Given the description of an element on the screen output the (x, y) to click on. 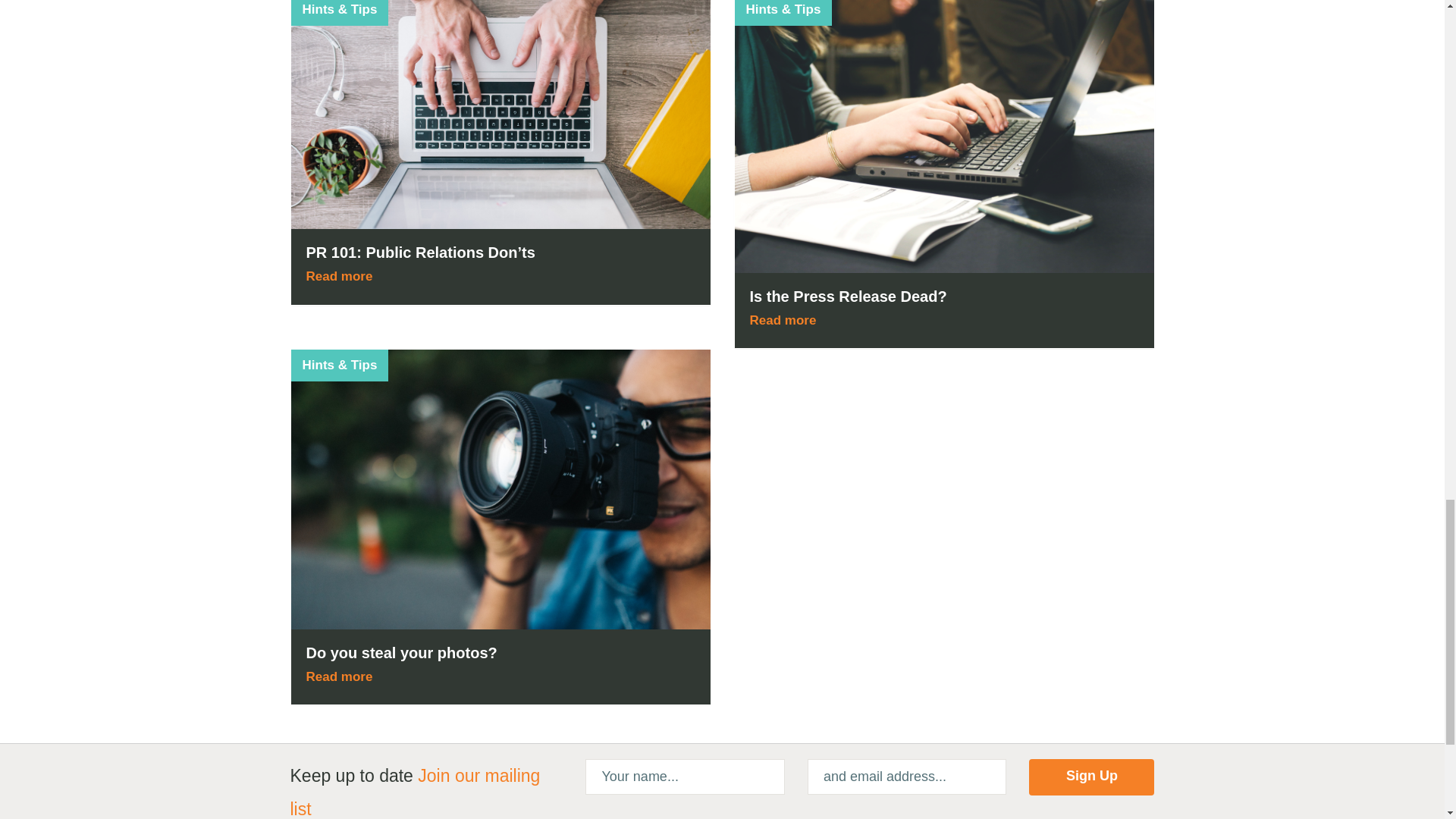
Read more (785, 319)
Read more (341, 676)
Read more (341, 276)
Sign Up (1091, 777)
